Given the description of an element on the screen output the (x, y) to click on. 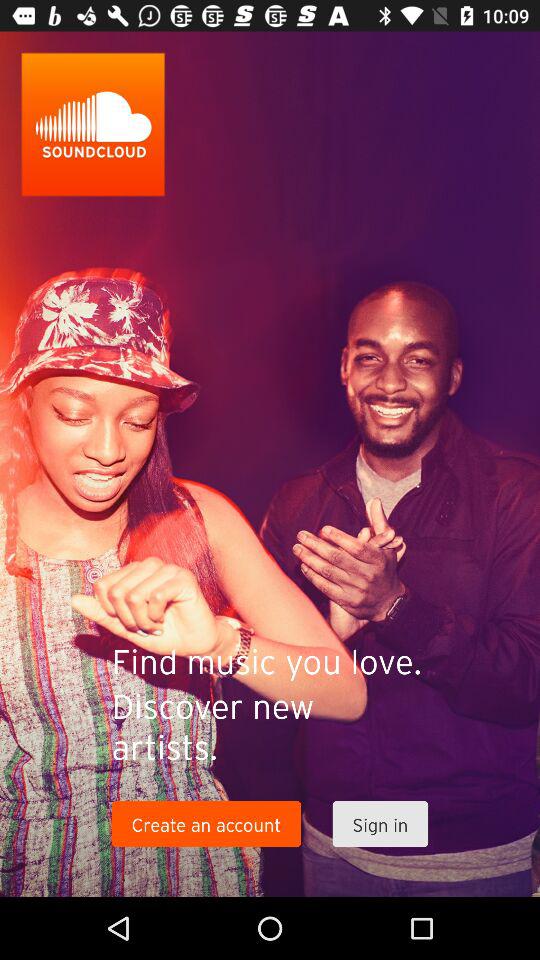
select the item to the right of the create an account (380, 824)
